Given the description of an element on the screen output the (x, y) to click on. 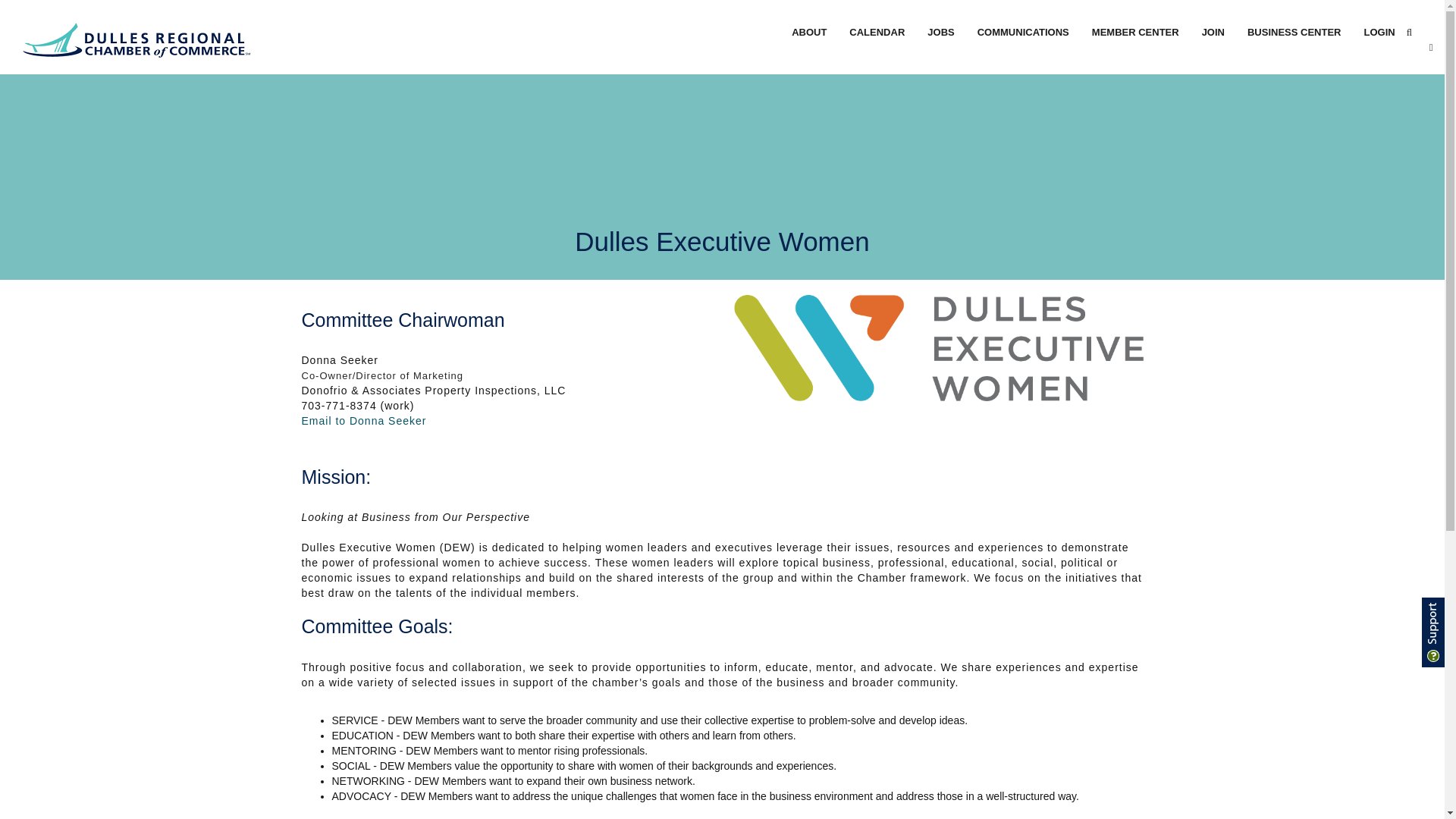
COMMUNICATIONS (1023, 31)
ABOUT (809, 31)
JOBS (940, 31)
BUSINESS CENTER (1294, 31)
Email to Donna Seeker (363, 420)
JOIN (1213, 31)
CALENDAR (876, 31)
LOGIN (1379, 31)
MEMBER CENTER (1135, 31)
